Given the description of an element on the screen output the (x, y) to click on. 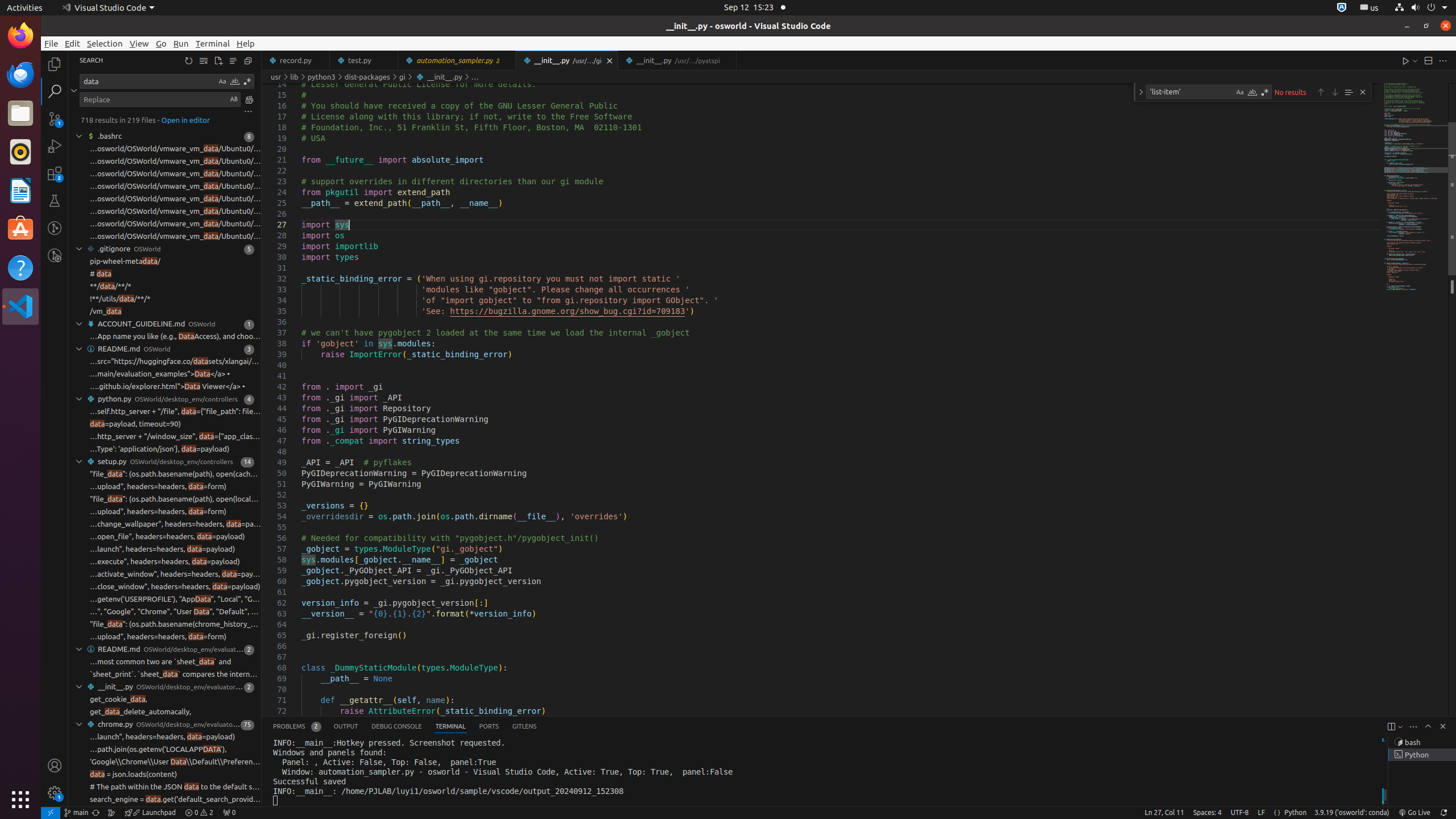
…src="https://huggingface.co/datasets/xlangai/assets/resolve/main/github_banner_v2.png" alt="Banner"> Element type: link (175, 360)
Notifications Element type: push-button (1443, 812)
…", "Google", "Chrome", "User Data", "Default", "History"))""")[ Element type: link (175, 611)
Extensions (Ctrl+Shift+X) - 2 require update Element type: page-tab (54, 173)
